Given the description of an element on the screen output the (x, y) to click on. 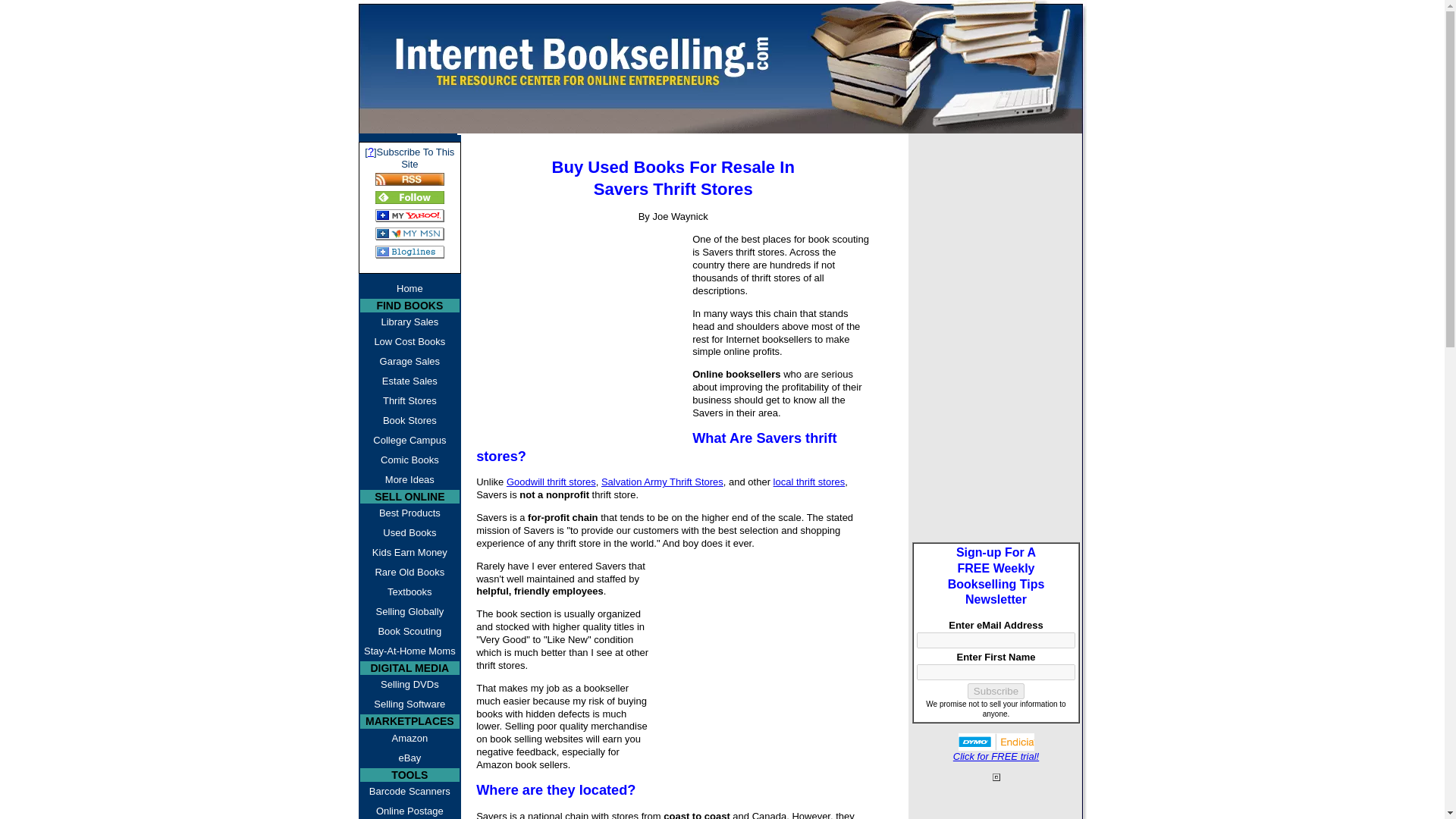
Amazon (409, 738)
Stay-At-Home Moms (409, 650)
Kids Earn Money (409, 552)
Thrift Stores (409, 401)
College Campus (409, 440)
Home (410, 288)
Estate Sales (409, 381)
Used Books (409, 532)
Selling Software (409, 704)
Book Stores (409, 420)
